Given the description of an element on the screen output the (x, y) to click on. 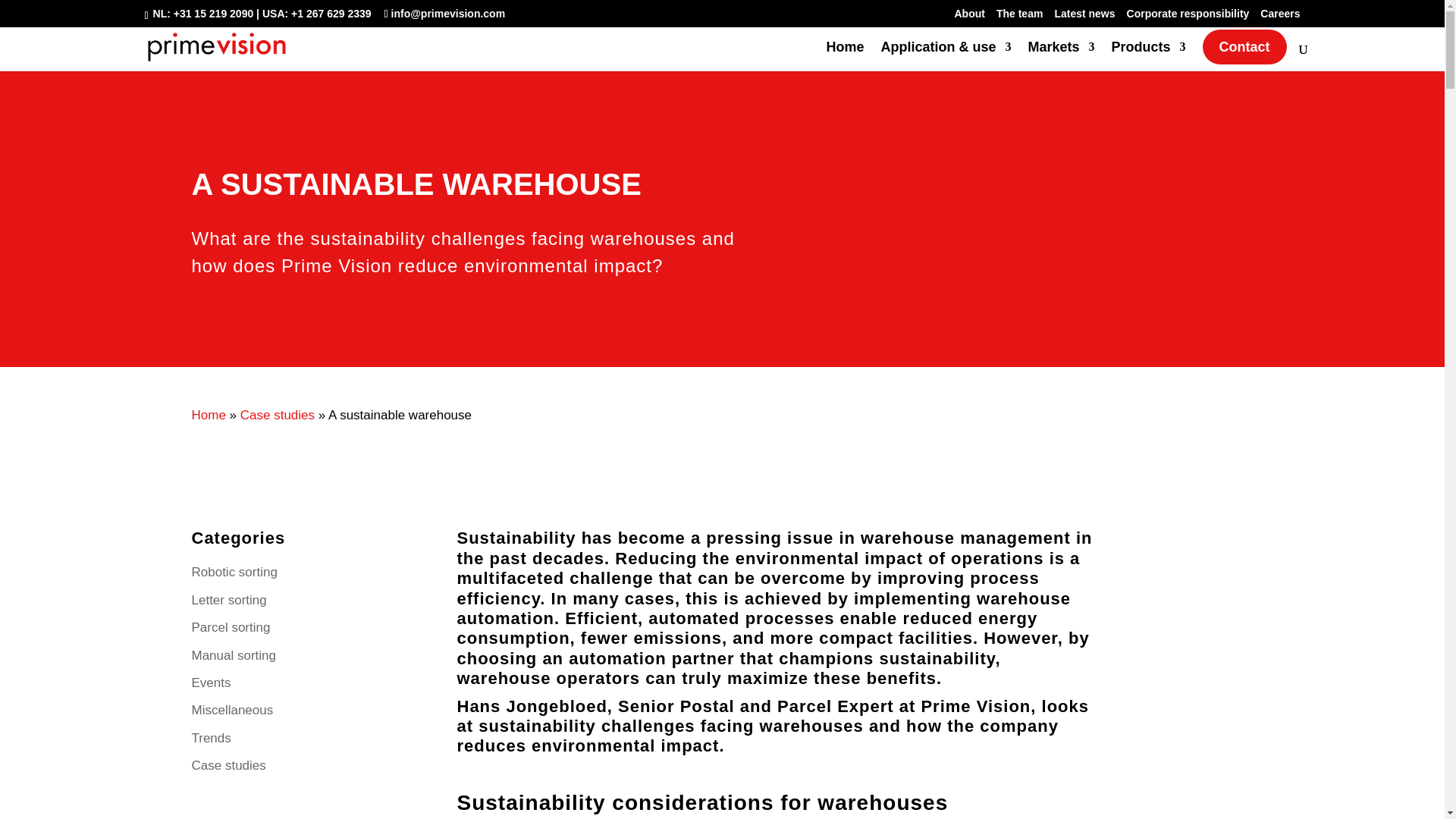
Robotic sorting (233, 575)
About (968, 16)
Latest news (1084, 16)
Markets (1060, 56)
Products (1147, 56)
Corporate responsibility (1187, 16)
Home (207, 414)
Careers (1280, 16)
Contact (1244, 46)
The team (1018, 16)
Parcel sorting (229, 630)
Manual sorting (233, 658)
Letter sorting (228, 603)
Home (844, 56)
Case studies (277, 414)
